Given the description of an element on the screen output the (x, y) to click on. 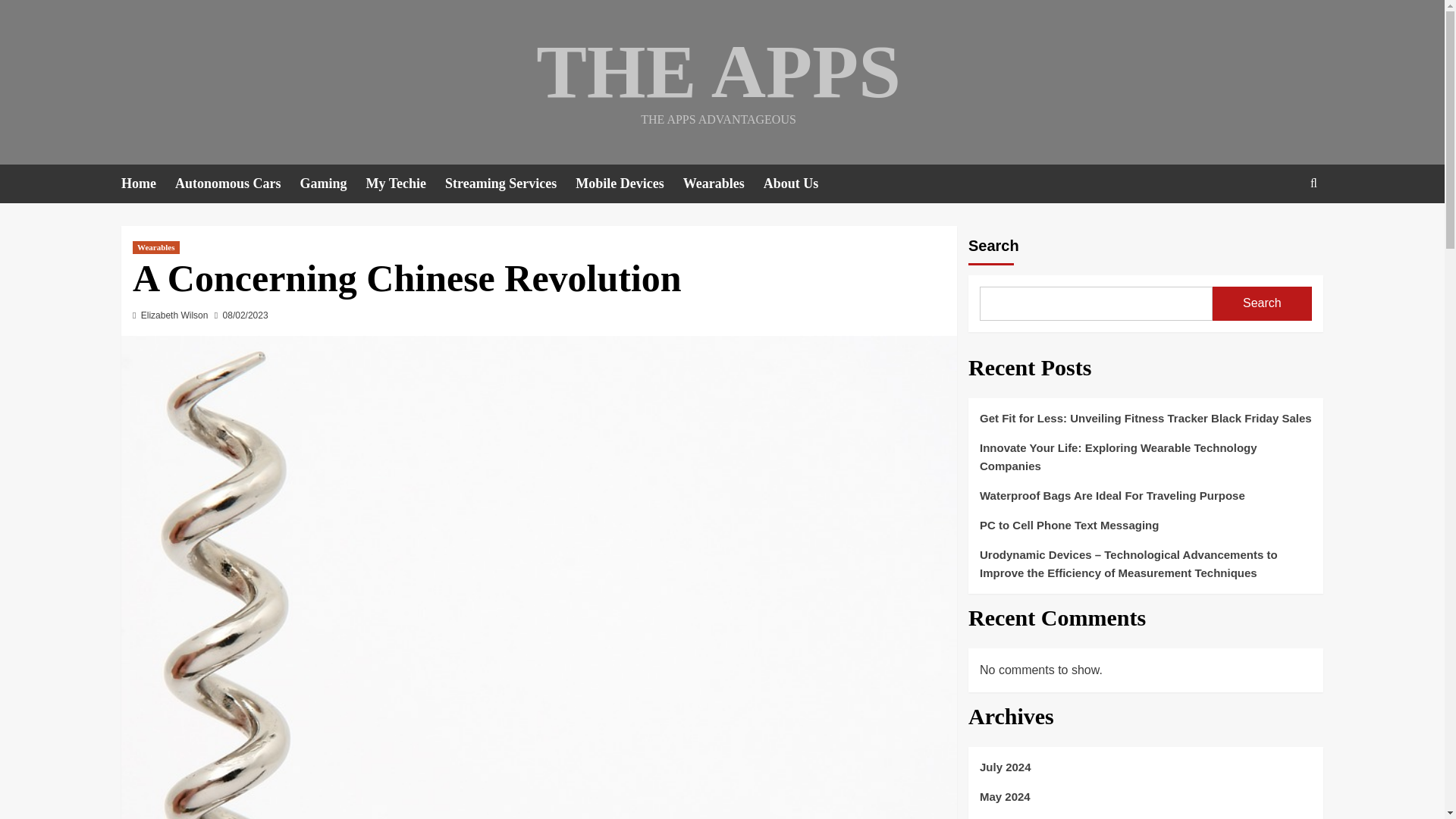
About Us (800, 183)
Search (1261, 303)
Elizabeth Wilson (174, 315)
Search (1278, 229)
Streaming Services (510, 183)
Autonomous Cars (236, 183)
THE APPS (718, 71)
Home (147, 183)
Wearables (722, 183)
Wearables (155, 246)
My Techie (405, 183)
Gaming (332, 183)
Mobile Devices (628, 183)
